Given the description of an element on the screen output the (x, y) to click on. 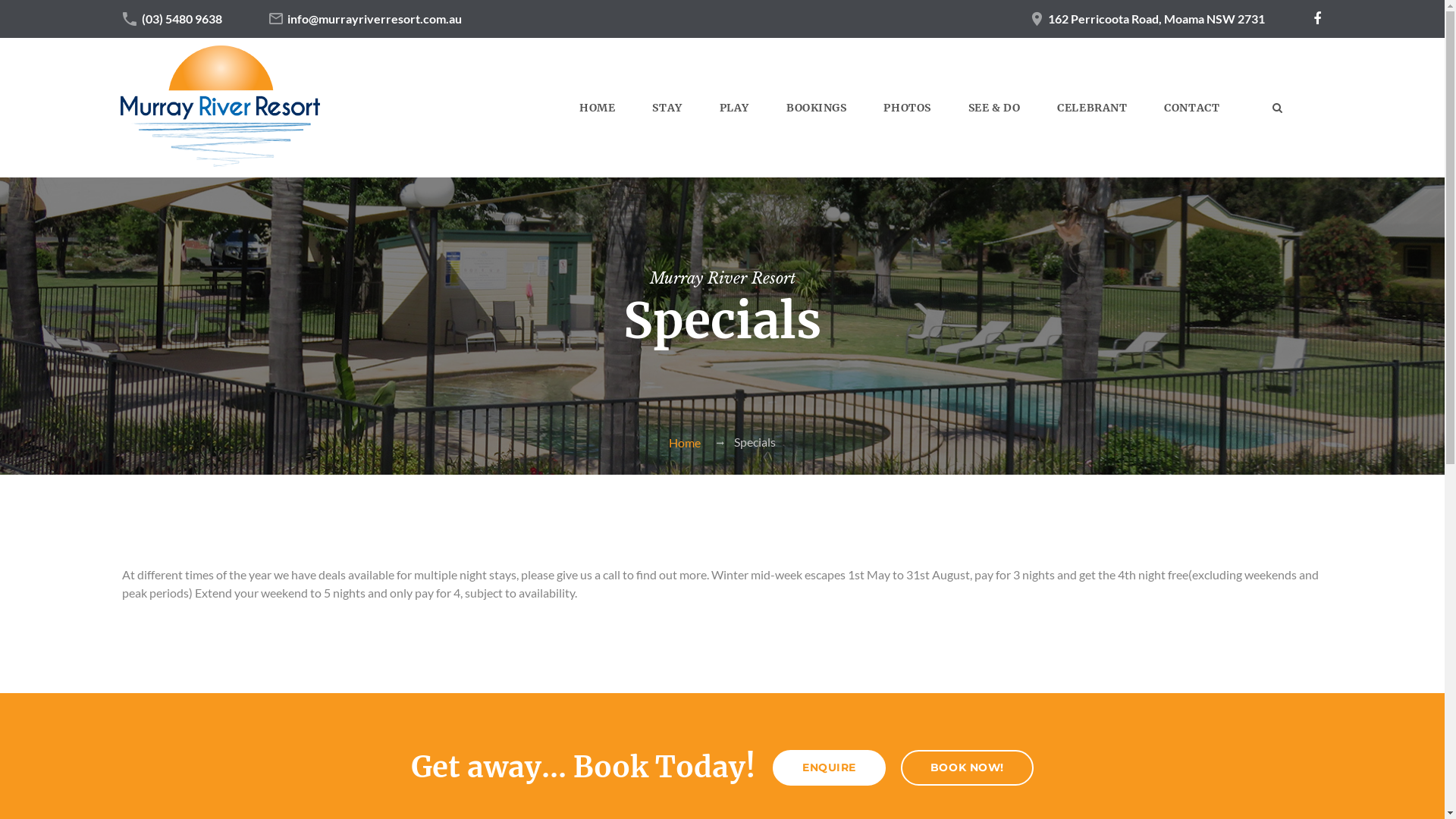
PHOTOS Element type: text (906, 107)
info@murrayriverresort.com.au Element type: text (374, 18)
STAY Element type: text (666, 107)
(03) 5480 9638 Element type: text (181, 18)
BOOK NOW! Element type: text (966, 767)
CELEBRANT Element type: text (1091, 107)
HOME Element type: text (597, 107)
PLAY Element type: text (734, 107)
SEE & DO Element type: text (993, 107)
CONTACT Element type: text (1191, 107)
ENQUIRE Element type: text (828, 767)
BOOKINGS Element type: text (816, 107)
162 Perricoota Road, Moama NSW 2731 Element type: text (1156, 18)
Home Element type: text (684, 442)
